Given the description of an element on the screen output the (x, y) to click on. 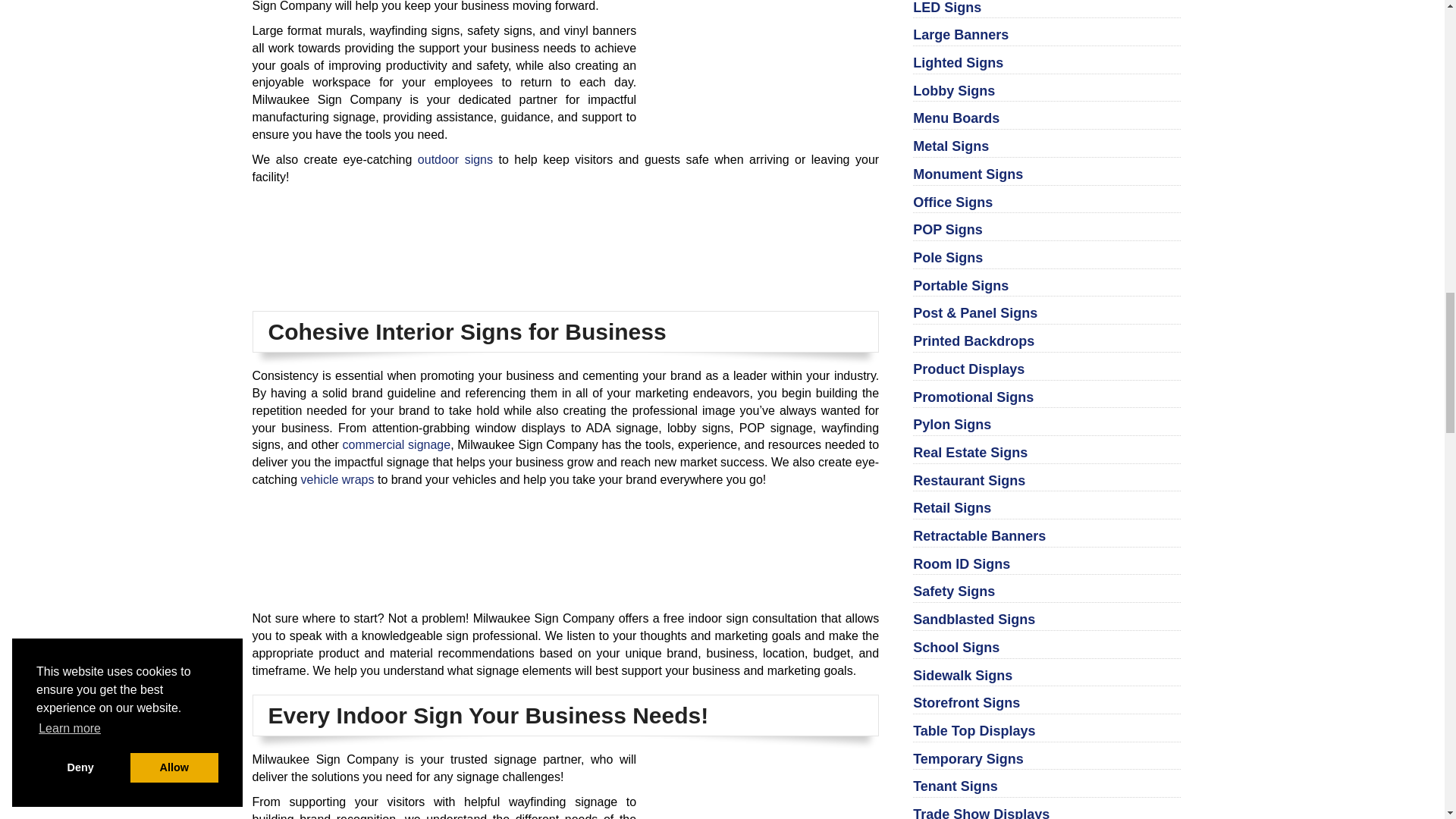
outdoor signs (455, 159)
